Given the description of an element on the screen output the (x, y) to click on. 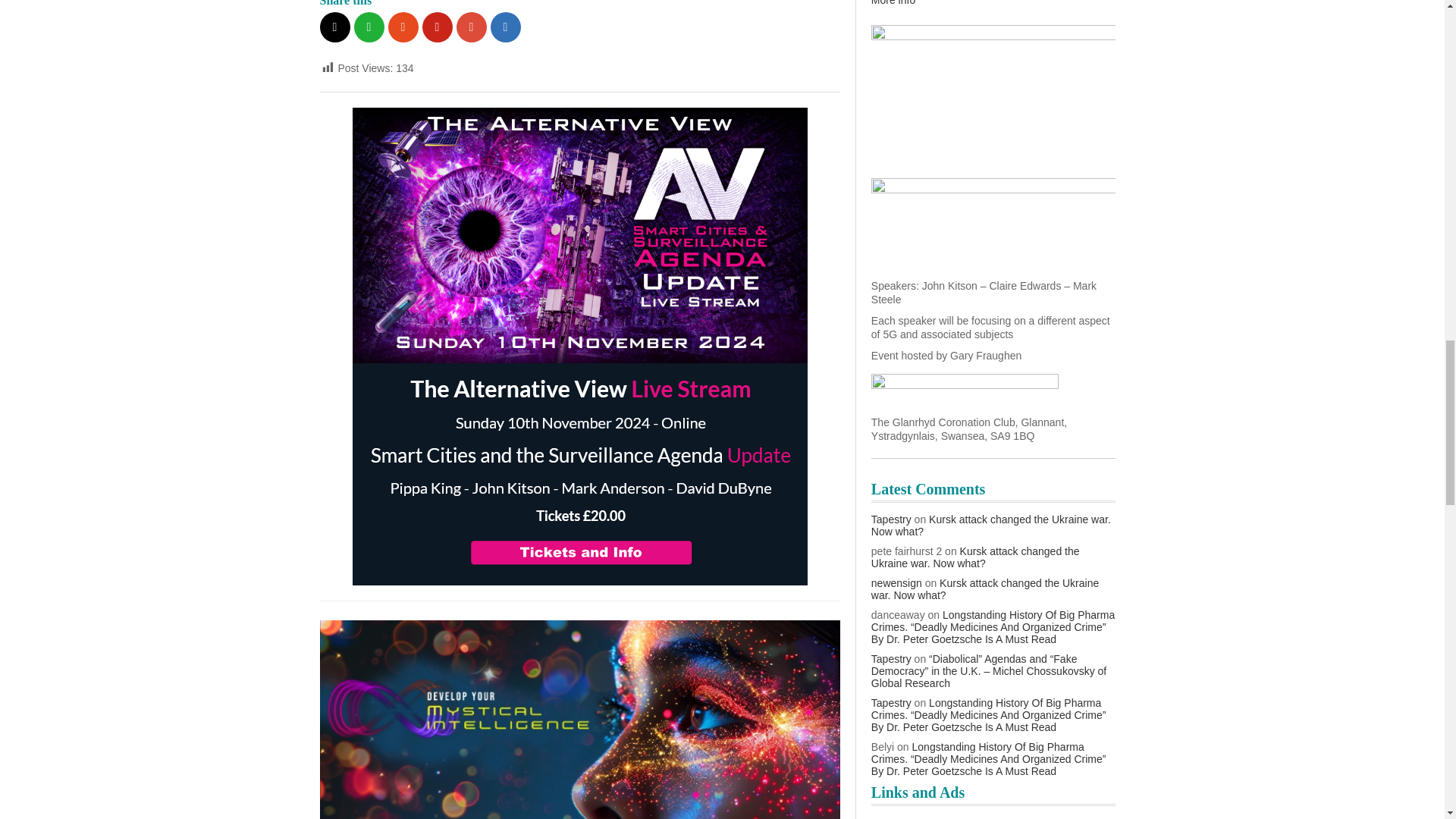
Kursk attack changed the Ukraine war. Now what? (975, 557)
More info (892, 2)
Kursk attack changed the Ukraine war. Now what? (990, 525)
Tapestry (890, 519)
